Given the description of an element on the screen output the (x, y) to click on. 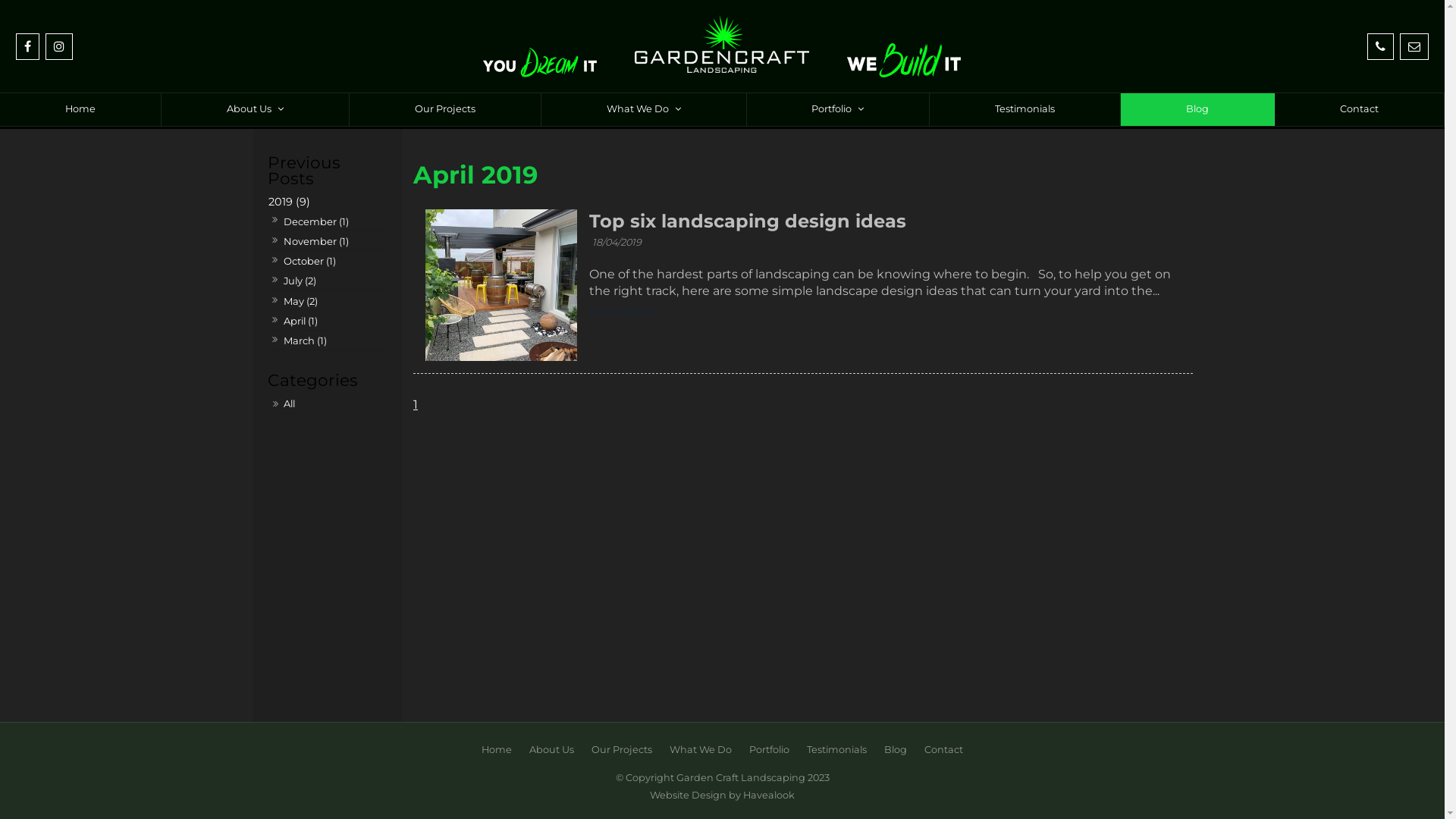
About Us Element type: text (551, 749)
Contact Element type: text (1359, 109)
July (2) Element type: text (299, 280)
All Element type: text (329, 404)
What We Do Element type: text (643, 109)
Our Projects Element type: text (445, 109)
Blog Element type: text (1197, 109)
Blog Element type: text (895, 749)
April (1) Element type: text (300, 320)
Testimonials Element type: text (1024, 109)
Home Element type: text (496, 749)
What We Do Element type: text (700, 749)
December (1) Element type: text (315, 220)
Website Design Element type: text (687, 794)
Our Projects Element type: text (621, 749)
About Us Element type: text (255, 109)
2019 (9) Element type: text (325, 201)
Portfolio Element type: text (837, 109)
March (1) Element type: text (304, 340)
Portfolio Element type: text (769, 749)
November (1) Element type: text (315, 241)
1 Element type: text (415, 404)
Read More Element type: text (622, 312)
Testimonials Element type: text (836, 749)
Home Element type: text (80, 109)
May (2) Element type: text (300, 301)
Contact Element type: text (943, 749)
October (1) Element type: text (309, 260)
